Given the description of an element on the screen output the (x, y) to click on. 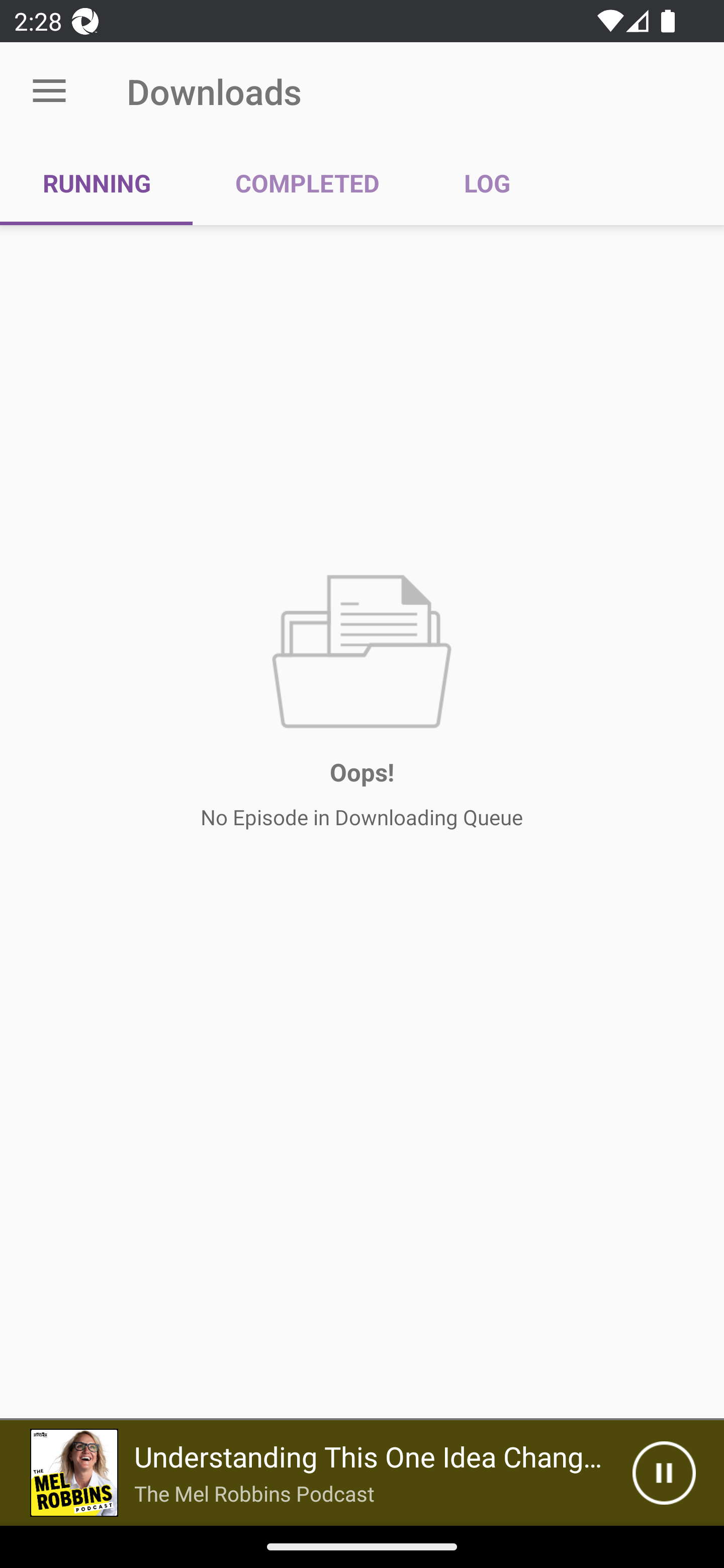
Open menu (49, 91)
RUNNING (96, 183)
COMPLETED (306, 183)
LOG (486, 183)
Pause (663, 1472)
